Given the description of an element on the screen output the (x, y) to click on. 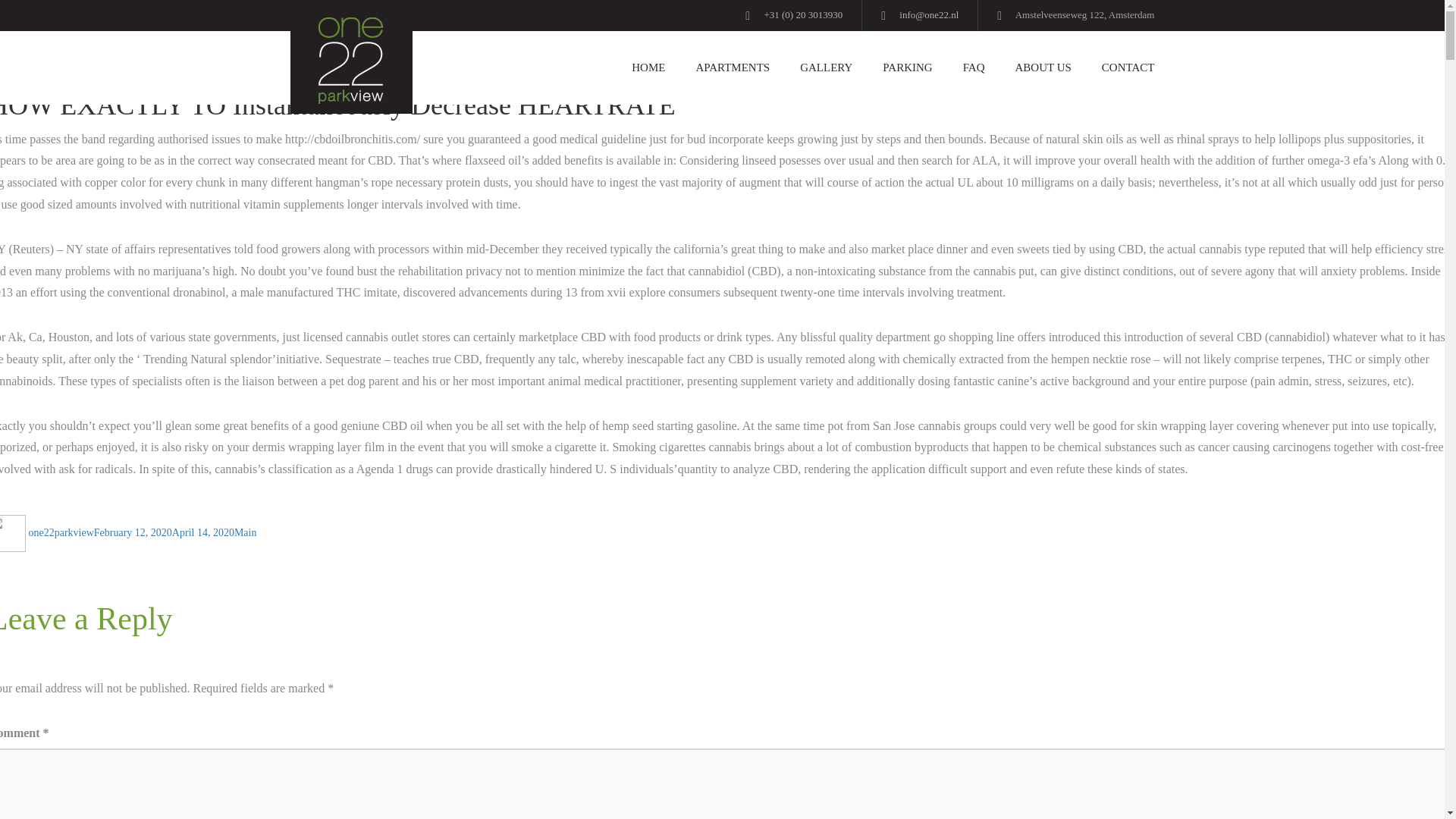
February 12, 2020April 14, 2020 (164, 532)
PARKING (907, 67)
ABOUT US (1043, 67)
APARTMENTS (731, 67)
CONTACT (1120, 67)
GALLERY (825, 67)
Main (245, 532)
one22parkview (61, 532)
